Given the description of an element on the screen output the (x, y) to click on. 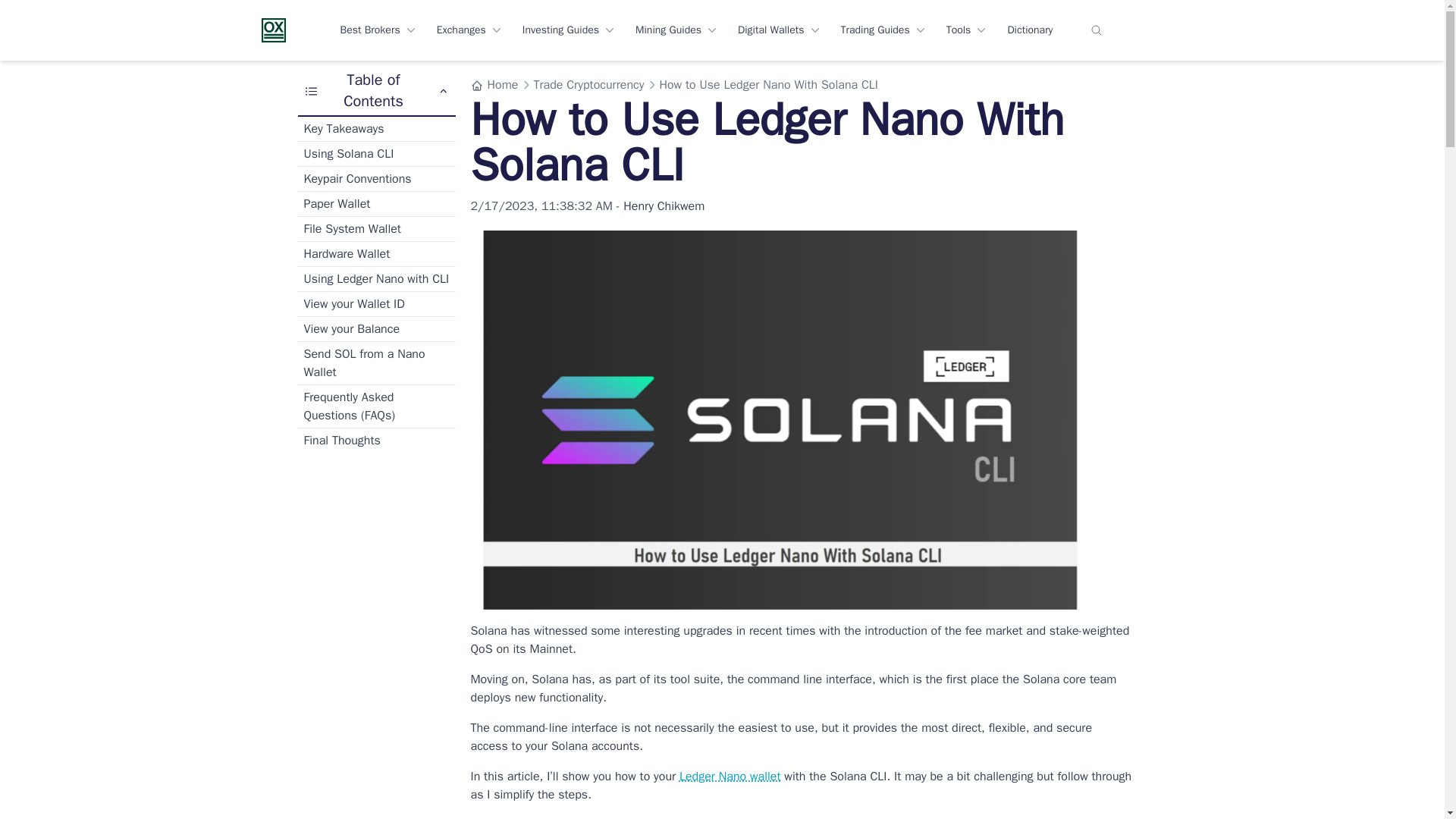
Keypair Conventions (375, 178)
How to Use Ledger Nano With Solana CLI (768, 84)
View your Balance (375, 328)
Table of Contents (375, 91)
Tools (968, 30)
Send SOL from a Nano Wallet (375, 363)
Key Takeaways (375, 128)
Mining Guides (676, 30)
File System Wallet (375, 228)
Home (494, 84)
Dictionary (1029, 30)
Trading Guides (883, 30)
Using Ledger Nano with CLI (375, 278)
Hardware Wallet (375, 253)
Digital Wallets (780, 30)
